Given the description of an element on the screen output the (x, y) to click on. 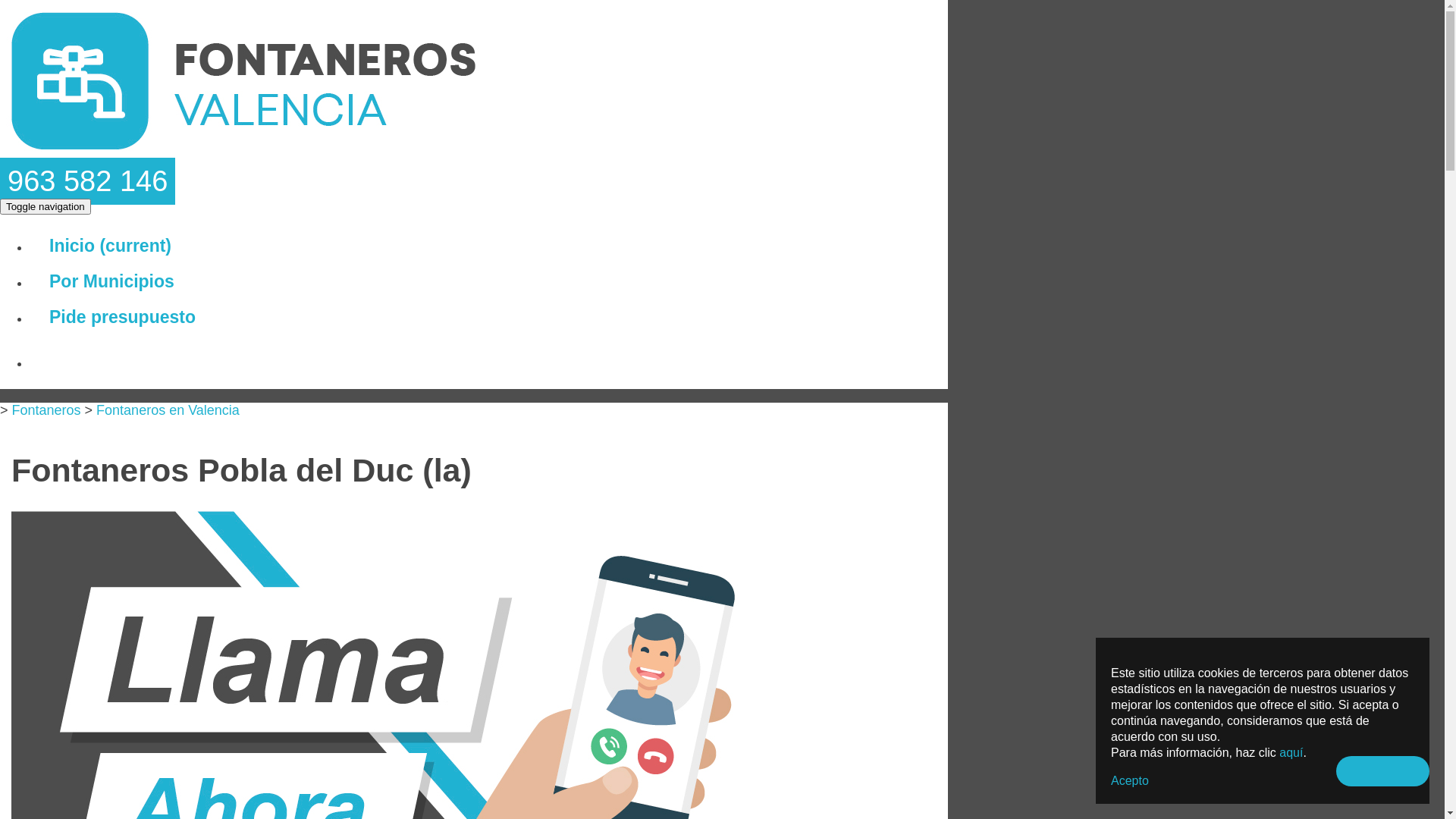
Pide presupuesto Element type: text (122, 316)
Fontaneros 24h Element type: hover (244, 156)
963 582 146 Element type: text (87, 180)
Acepto Element type: text (1129, 780)
Inicio (current) Element type: text (109, 245)
Fontaneros Element type: text (46, 409)
Por Municipios Element type: text (111, 281)
Fontaneros en Valencia Element type: text (167, 409)
Toggle navigation Element type: text (45, 206)
